Given the description of an element on the screen output the (x, y) to click on. 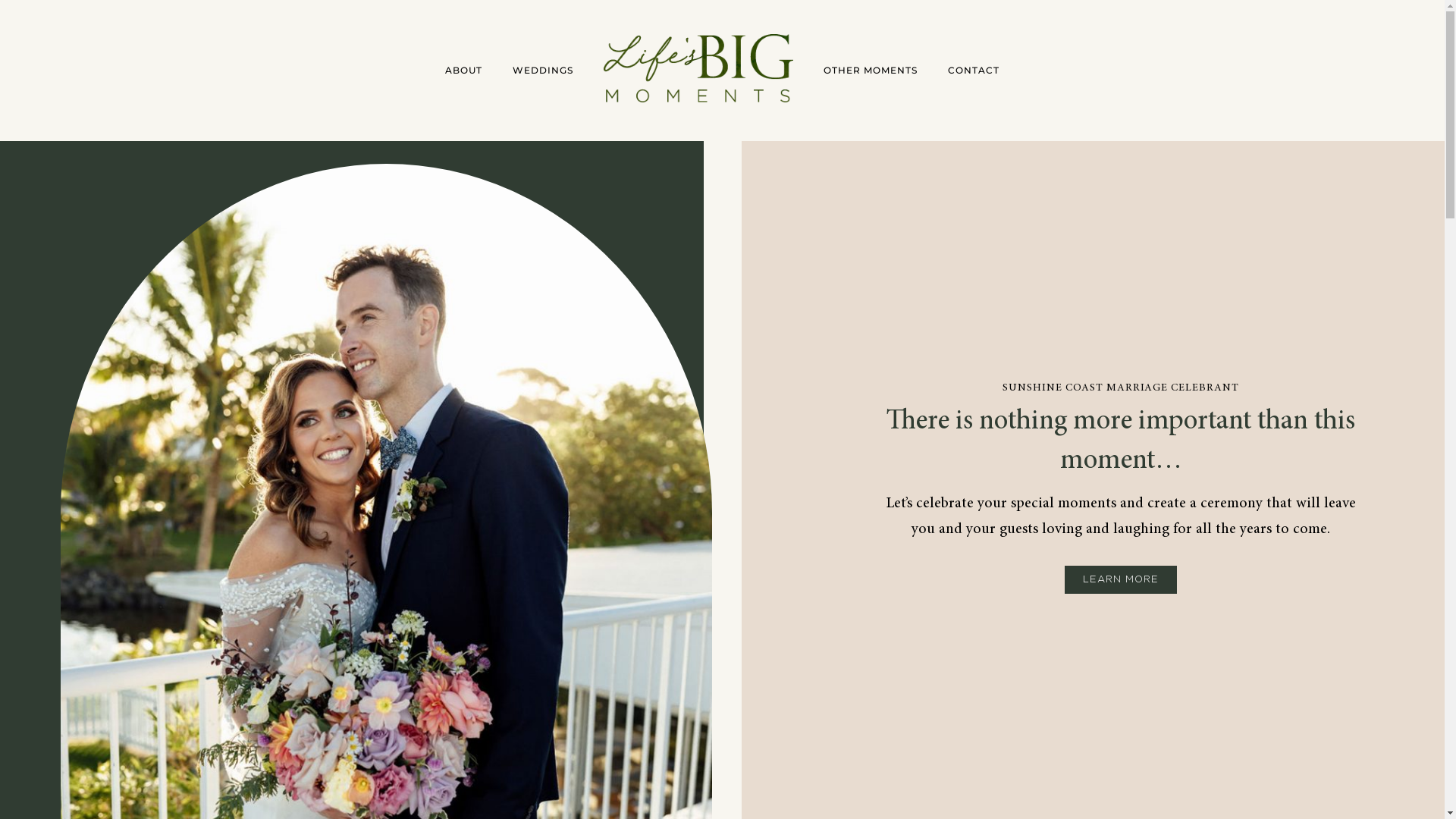
LEARN MORE Element type: text (1120, 579)
OTHER MOMENTS Element type: text (870, 70)
CONTACT Element type: text (973, 70)
ABOUT Element type: text (463, 70)
WEDDINGS Element type: text (542, 70)
